Given the description of an element on the screen output the (x, y) to click on. 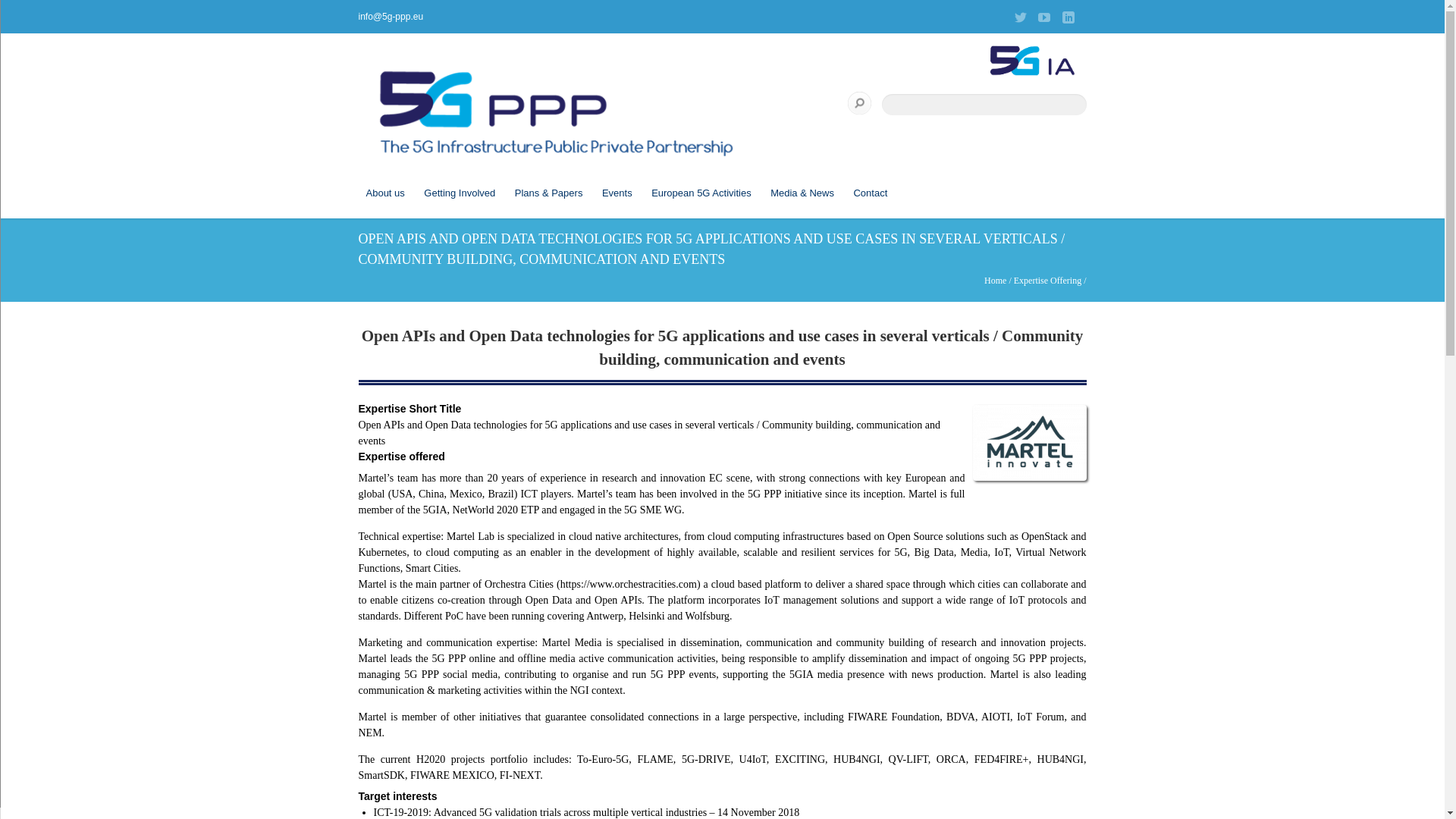
MARTEL-logo-web-2.png (1029, 477)
Youtube (1043, 17)
Linkedin (1067, 17)
